Given the description of an element on the screen output the (x, y) to click on. 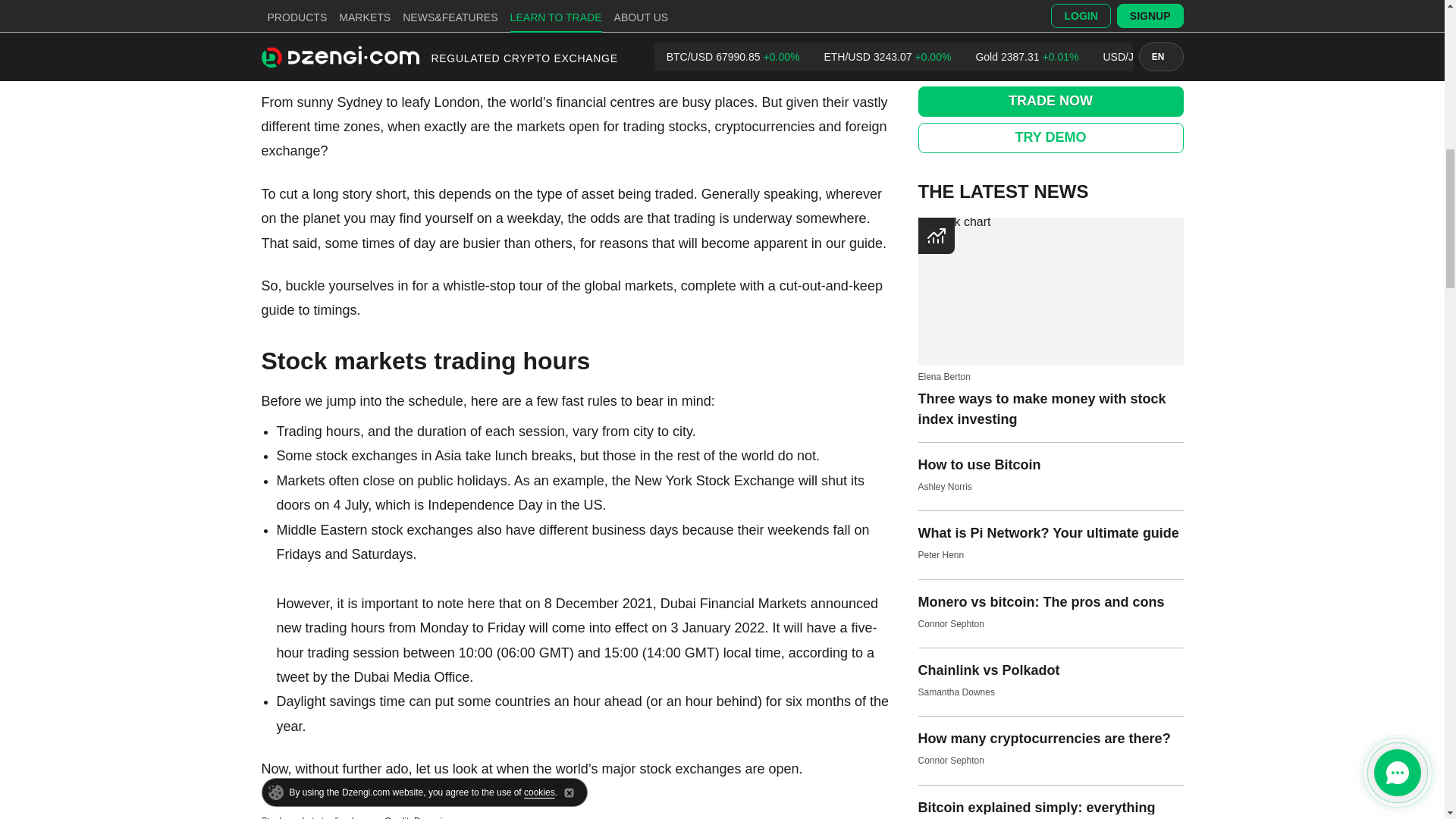
FAQs (293, 58)
Forex trading hours (335, 9)
Crypto markets trading hours (363, 34)
